Given the description of an element on the screen output the (x, y) to click on. 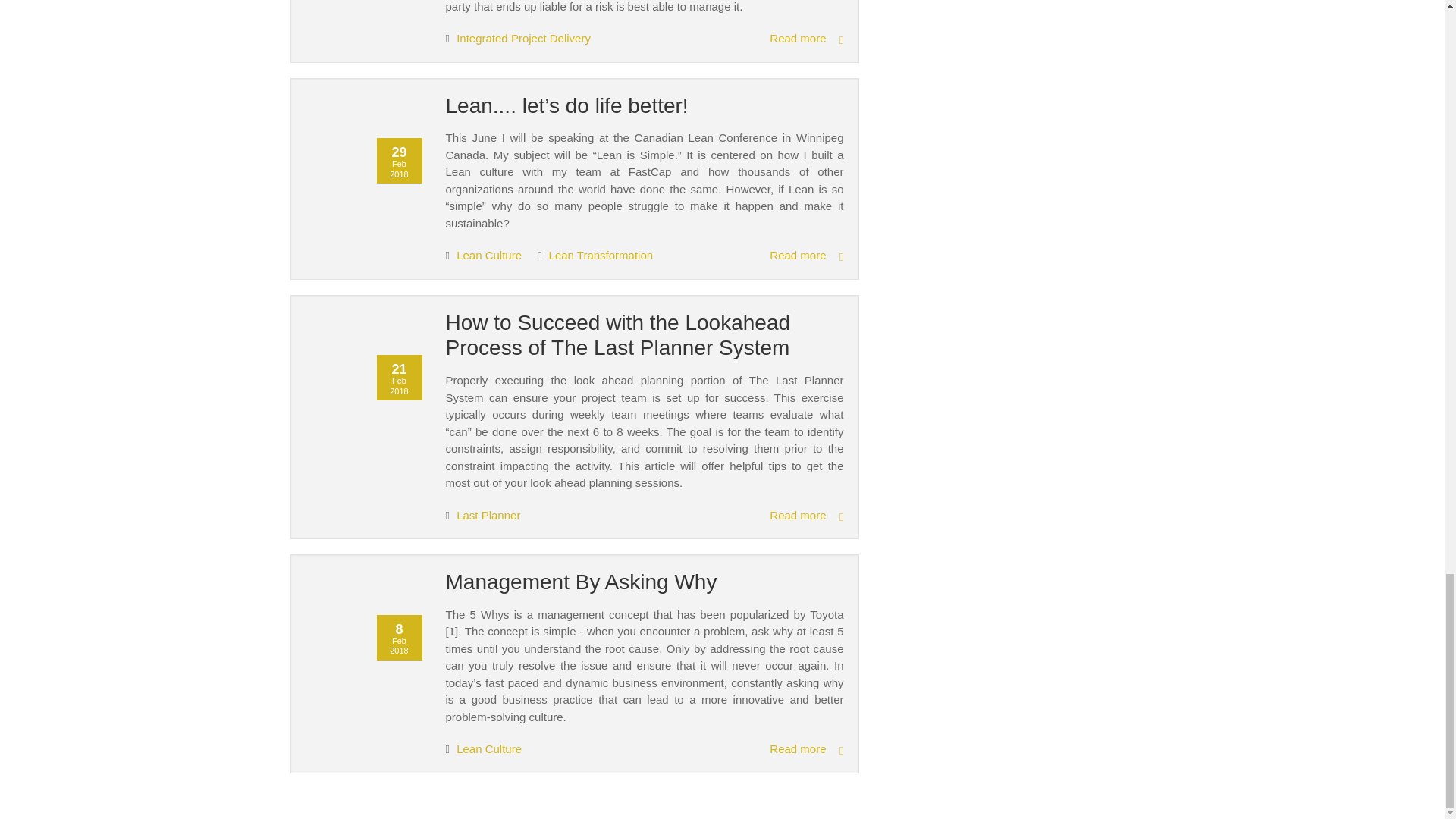
Read more (806, 255)
Read more (806, 515)
Read more (806, 38)
Lean Transformation (600, 254)
Management By Asking Why (581, 581)
Integrated Project Delivery (524, 38)
Lean Culture (490, 254)
Read more (806, 749)
Last Planner (488, 514)
